Given the description of an element on the screen output the (x, y) to click on. 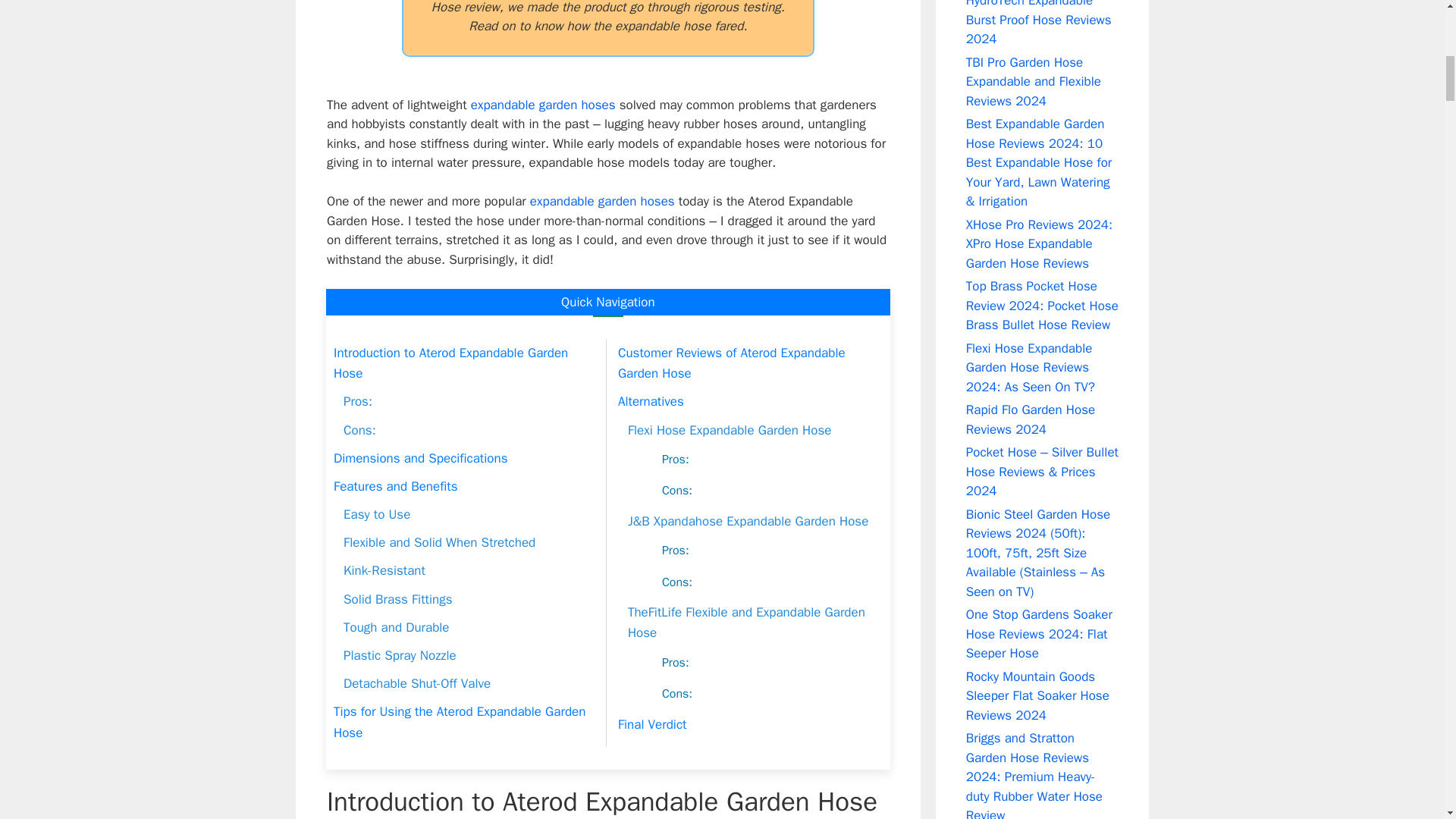
Solid Brass Fittings (397, 598)
Final Verdict (652, 724)
Cons: (677, 491)
Pros: (675, 551)
Customer Reviews of Aterod Expandable Garden Hose (748, 363)
TheFitLife Flexible and Expandable Garden Hose (755, 621)
Dimensions and Specifications (419, 457)
Kink-Resistant (384, 570)
Scroll back to top (1406, 720)
Tough and Durable (396, 627)
